Given the description of an element on the screen output the (x, y) to click on. 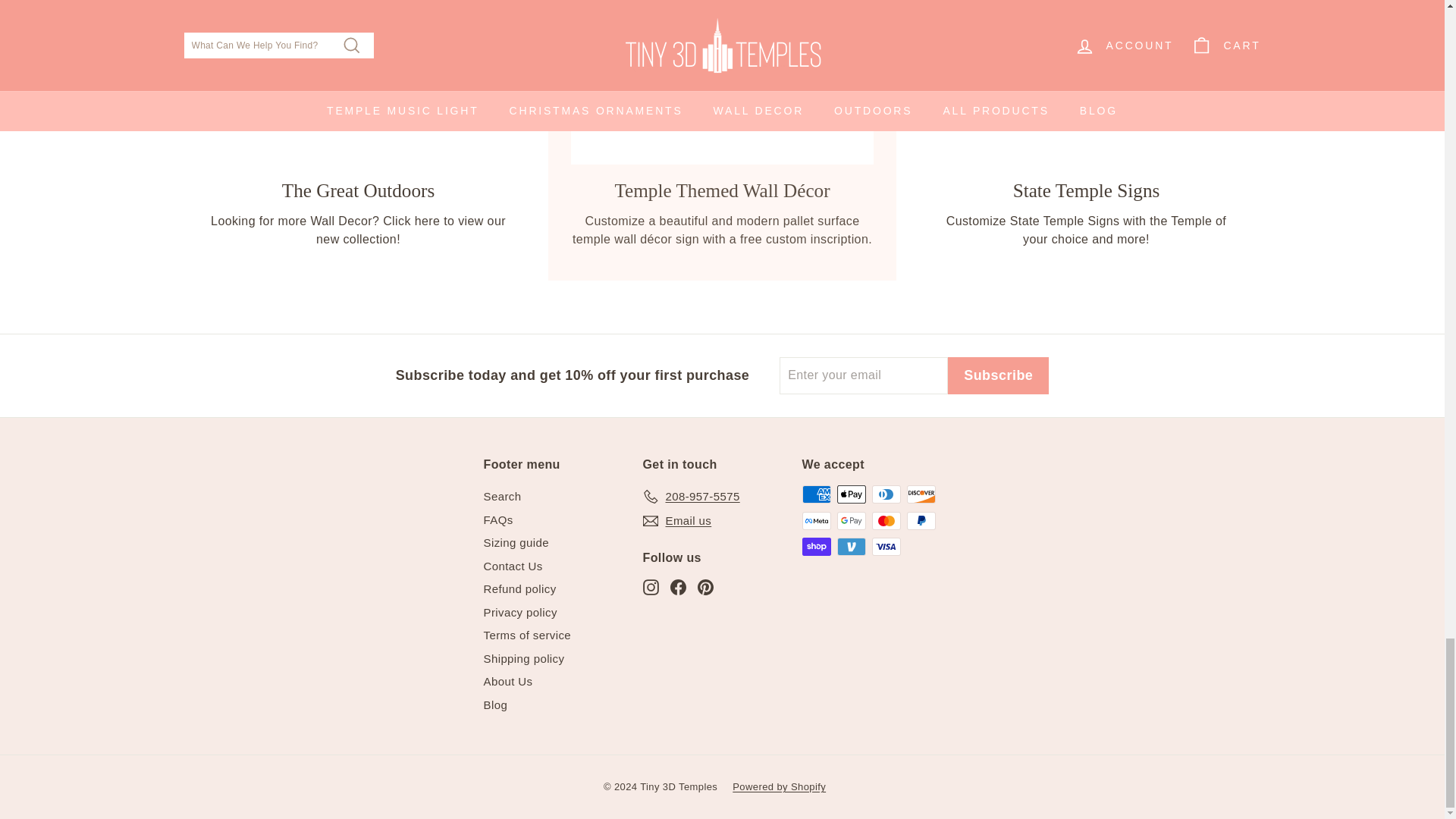
Diners Club (886, 494)
Apple Pay (851, 494)
American Express (816, 494)
